Given the description of an element on the screen output the (x, y) to click on. 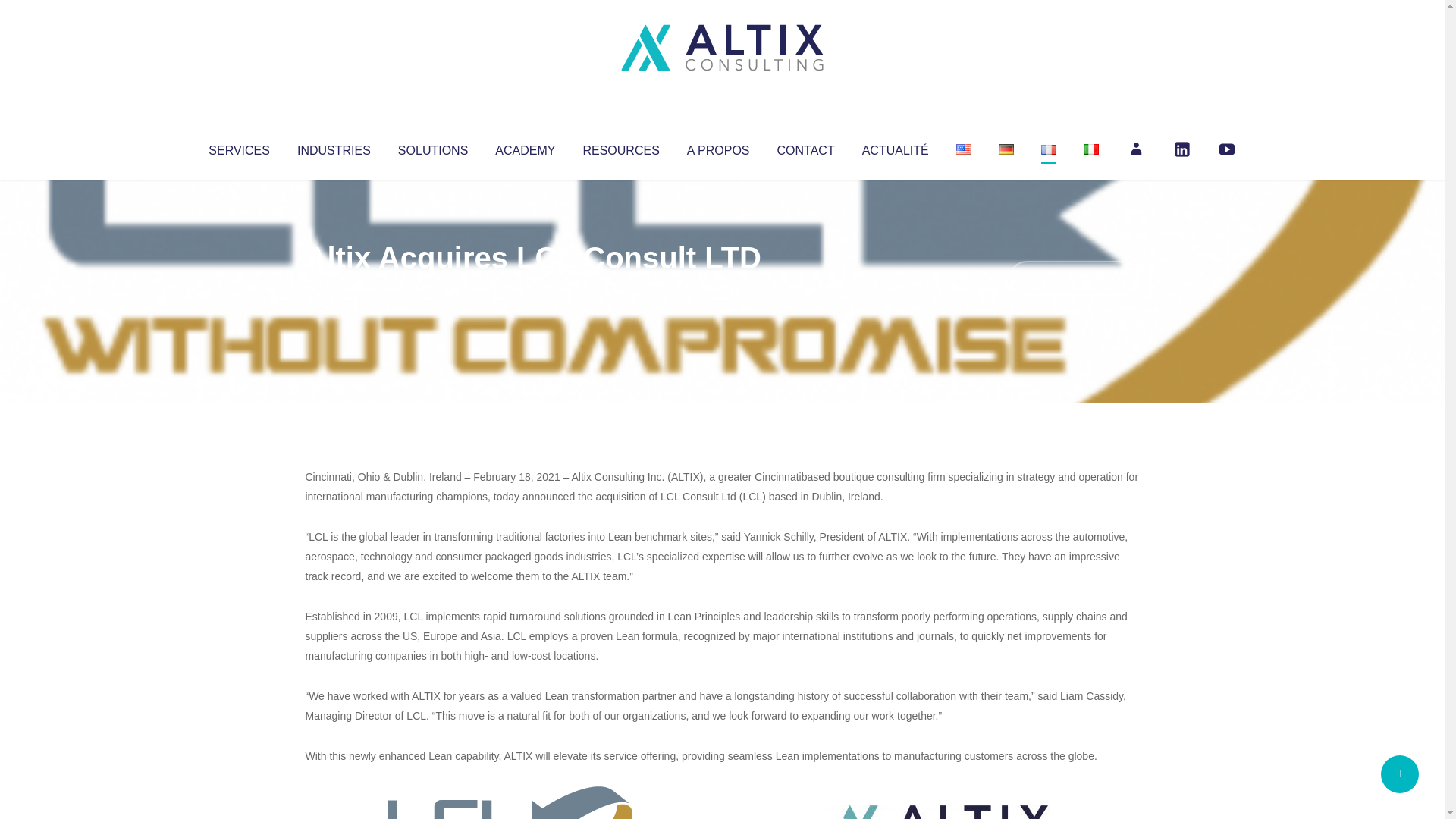
Altix (333, 287)
ACADEMY (524, 146)
SERVICES (238, 146)
RESOURCES (620, 146)
A PROPOS (718, 146)
SOLUTIONS (432, 146)
No Comments (1073, 278)
Articles par Altix (333, 287)
Uncategorized (530, 287)
INDUSTRIES (334, 146)
